Given the description of an element on the screen output the (x, y) to click on. 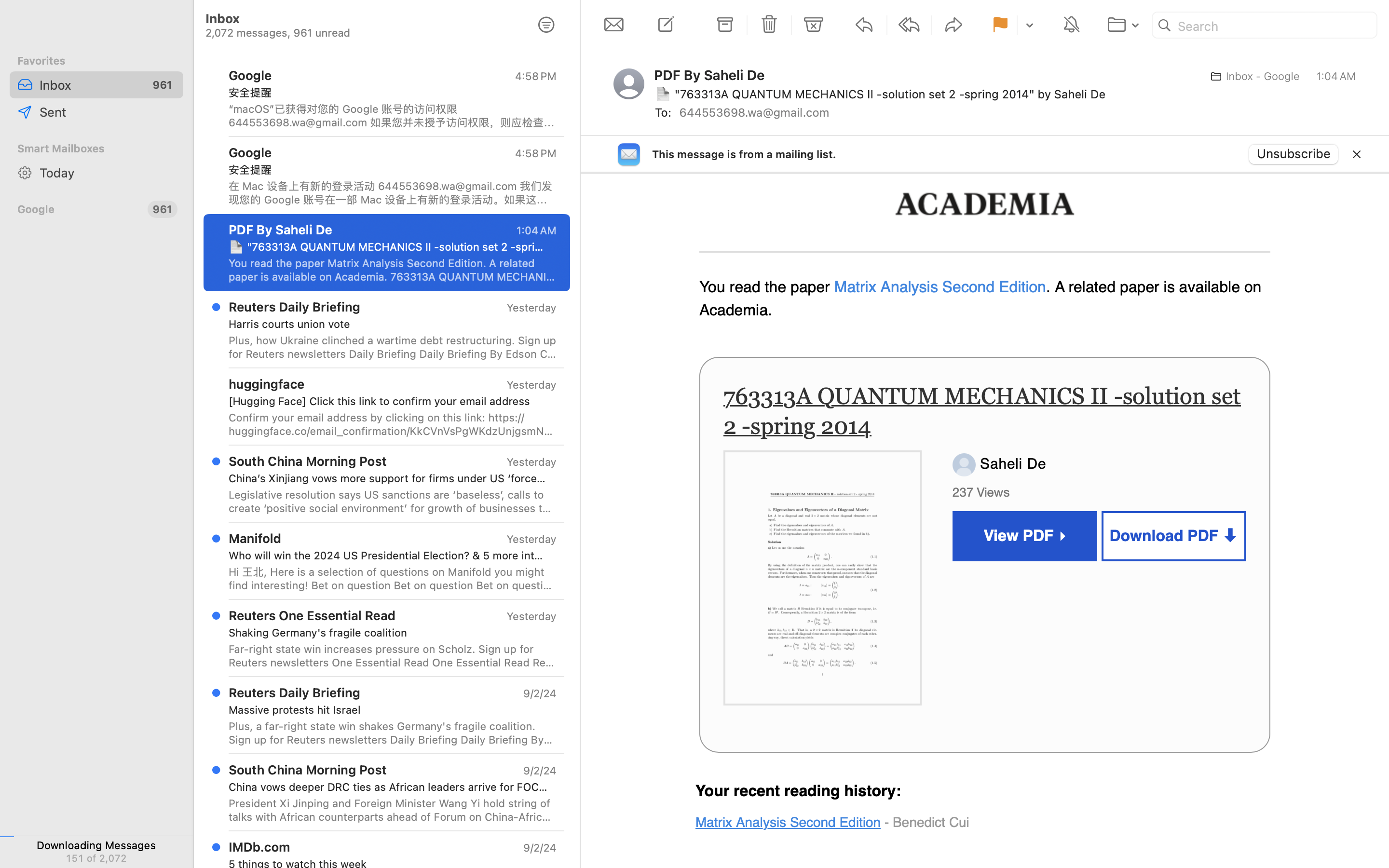
You read the paper Element type: AXStaticText (766, 287)
Your recent reading history: Element type: AXStaticText (798, 791)
Legislative resolution says US sanctions are ‘baseless’, calls to create ‘positive social environment’ for growth of businesses targeted. - South China Morning Post, SCMP, SCMP Today: Intl Edition - Legislative resolution says US sanctions are ‘baseless’, calls to create ‘positive social environment’ for growth of businesses targeted. Tuesday 3rd September, 2024 China politics & diplomacy ChinaChina’s Xinjiang vows more support for firms under US ‘forced labour’ sanctions3 Sep, 2024 - 04:36 pmLegislative resolution says US sanctions are ‘baseless’, calls to create ‘positive social environment’ for growth of businesses targeted. China11 dead in eastern China, driver detained after bus hits crowd outside school3 Sep, 2024 - 04:43 pm ChinaChinese researchers’ implant genetically modifies brain cells for neuron growth3 Sep, 2024 - 04:06 pm Featured Podcast3. Millennials, GenZ and hire education Video Of The Day China and Singapore embark on bigger joint navy exercise as South China Sea ten Element type: AXStaticText (392, 501)
Smart Mailboxes Element type: AXStaticText (96, 148)
South China Morning Post Element type: AXStaticText (307, 769)
